Given the description of an element on the screen output the (x, y) to click on. 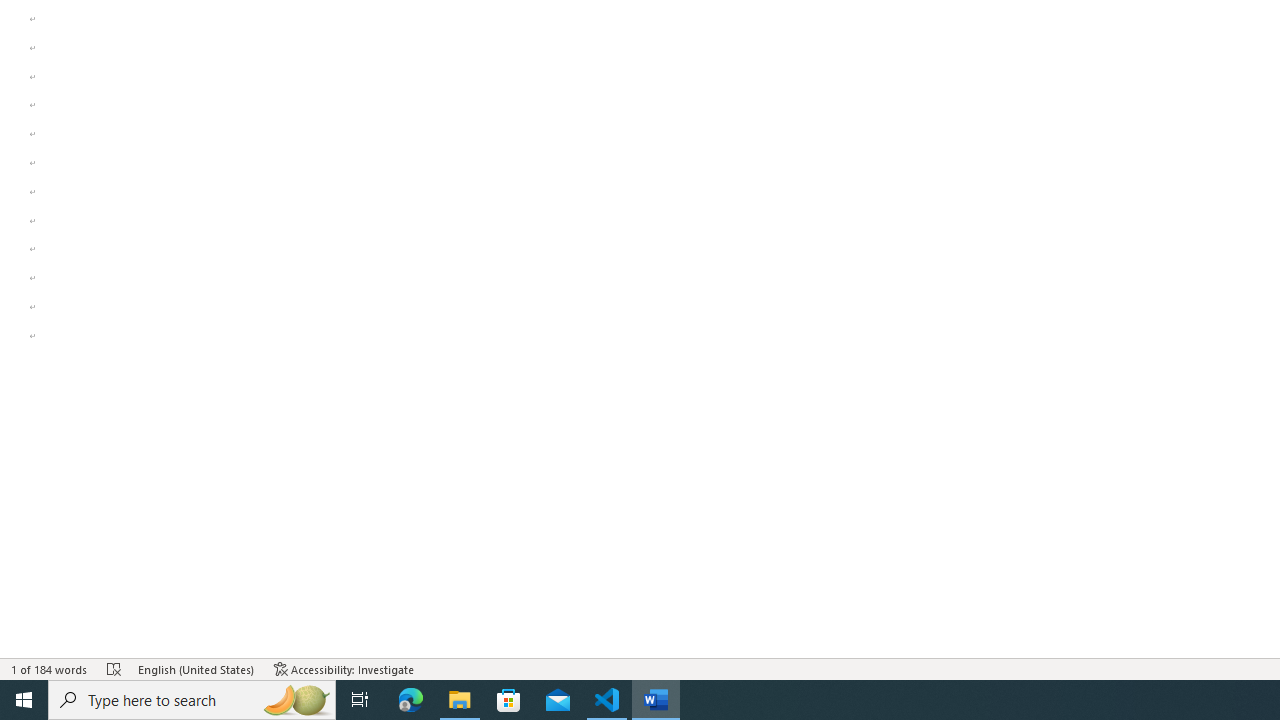
Word Count 1 of 184 words (49, 668)
